Given the description of an element on the screen output the (x, y) to click on. 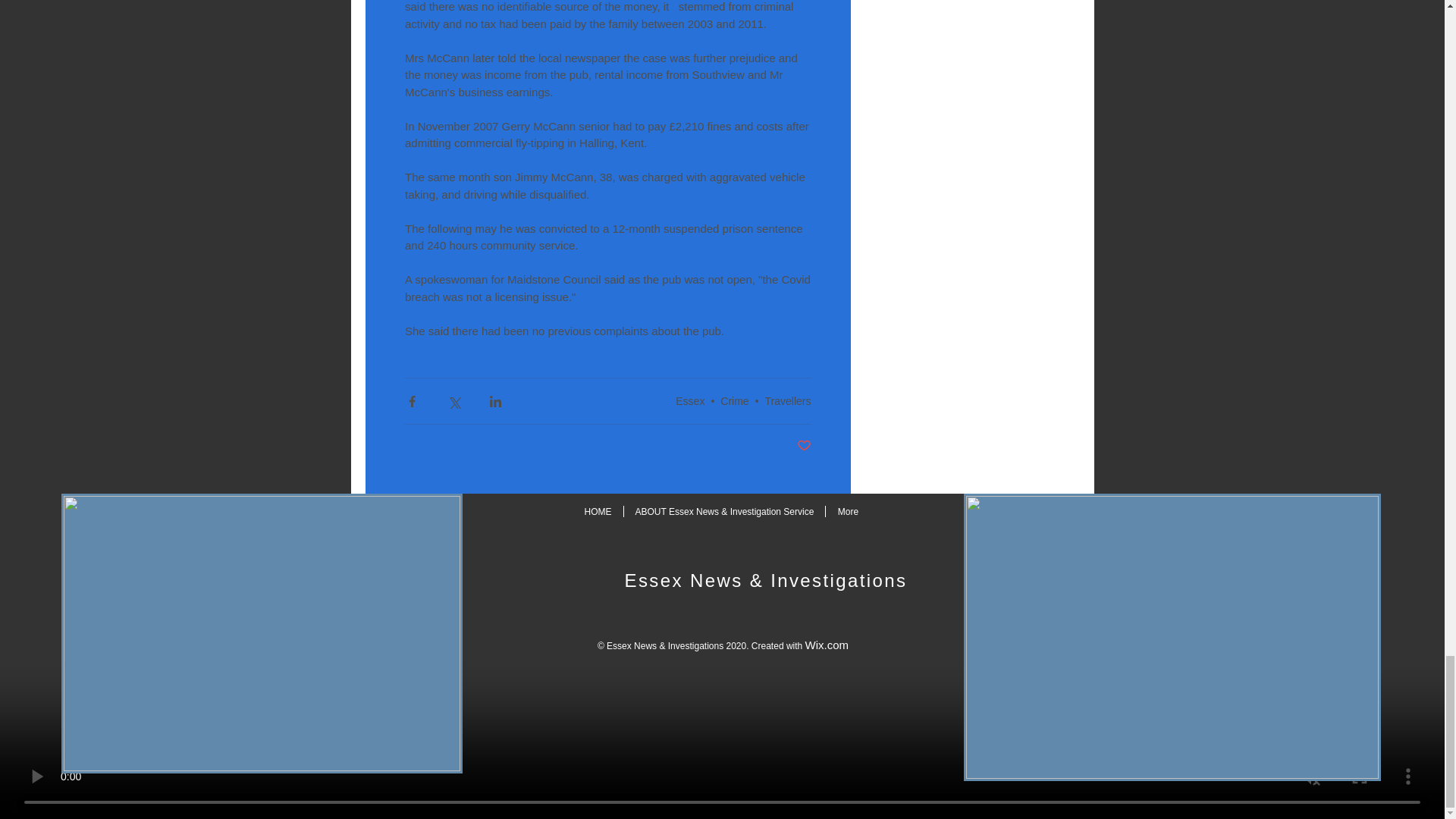
Essex (689, 400)
Wix.com (826, 644)
Crime (734, 400)
Travellers (787, 400)
Post not marked as liked (803, 446)
HOME (598, 511)
